Given the description of an element on the screen output the (x, y) to click on. 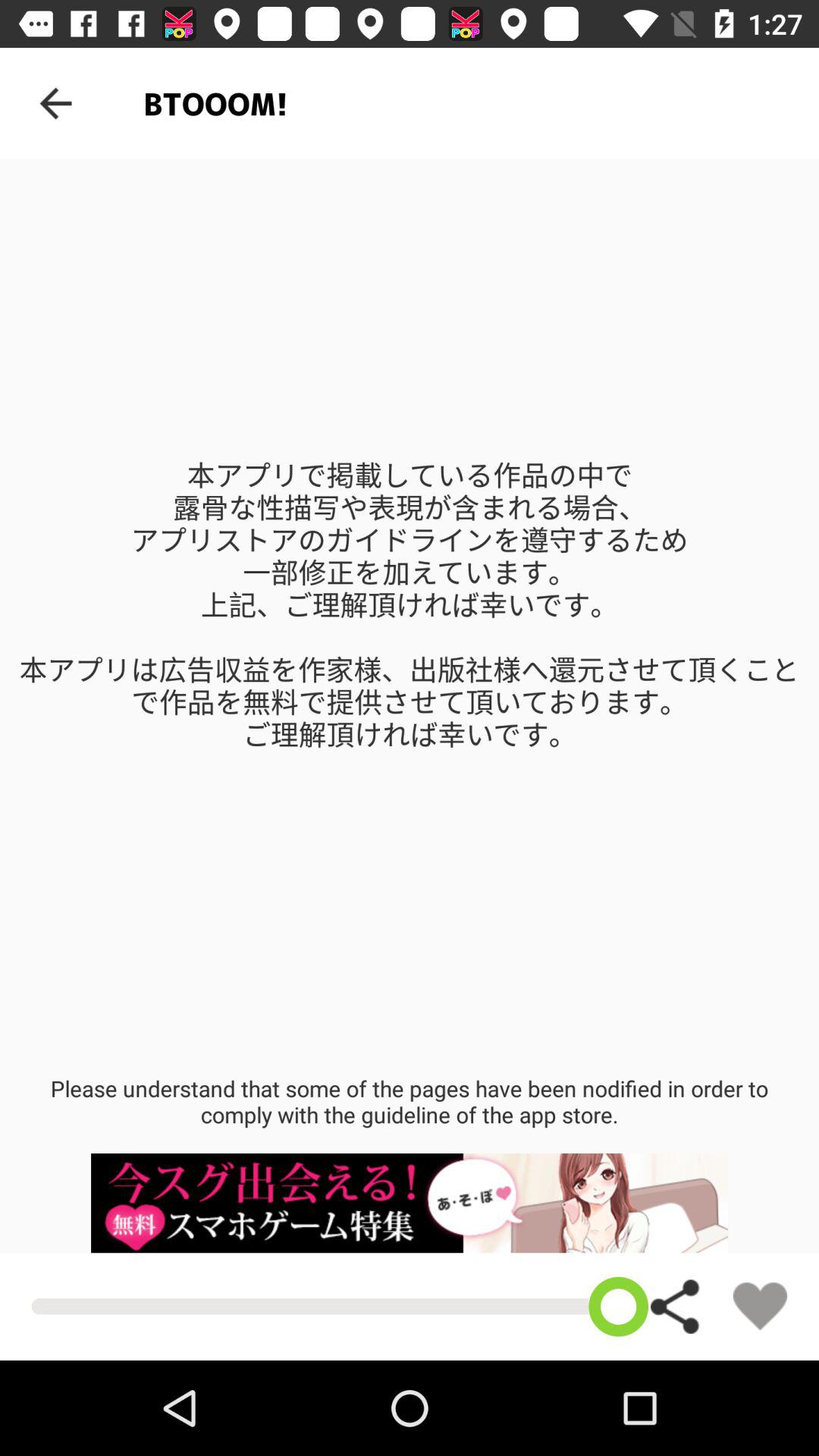
share (675, 1306)
